Given the description of an element on the screen output the (x, y) to click on. 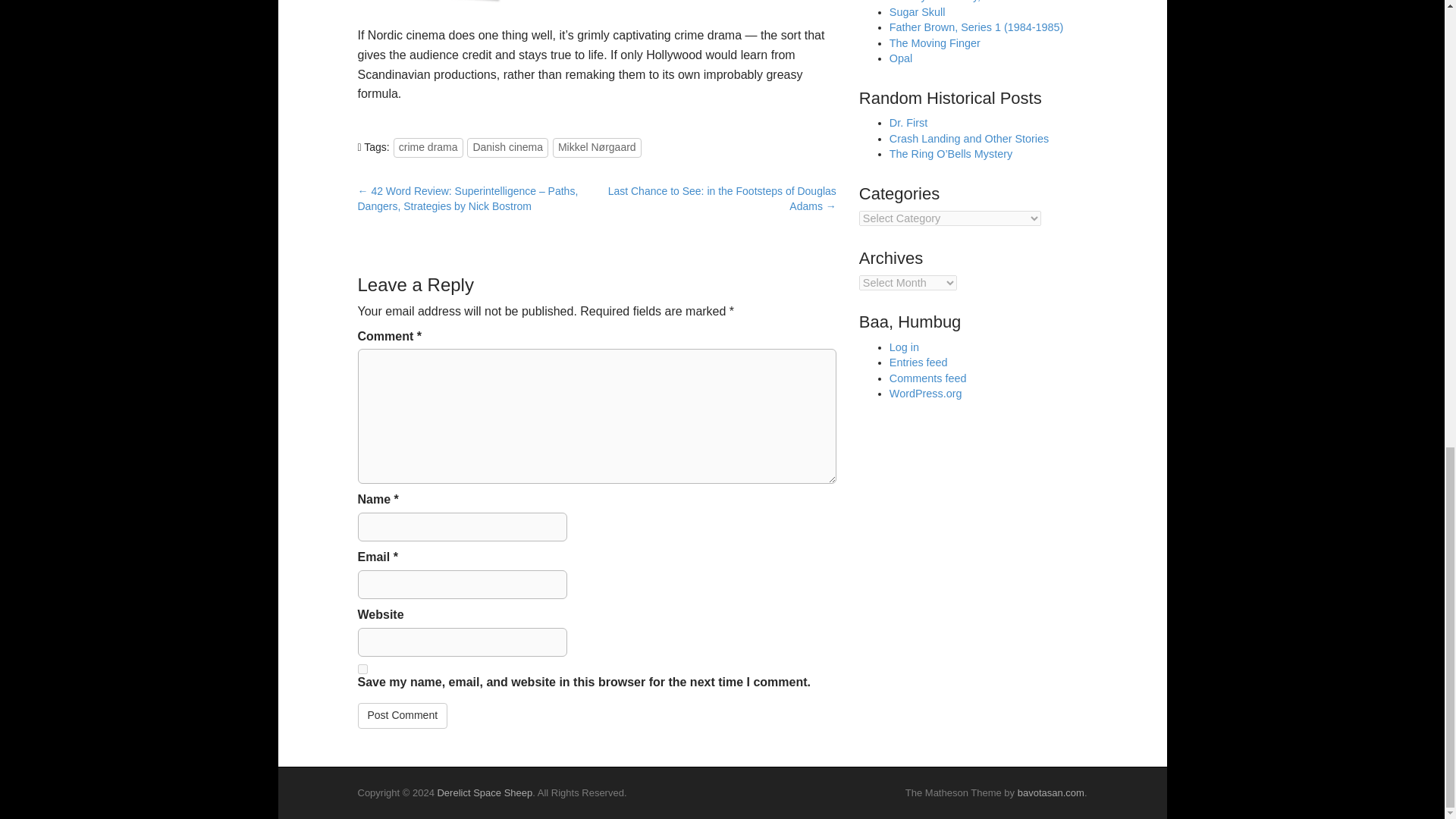
Post Comment (403, 715)
crime drama (428, 148)
Danish cinema (507, 148)
yes (363, 669)
Post Comment (403, 715)
